Given the description of an element on the screen output the (x, y) to click on. 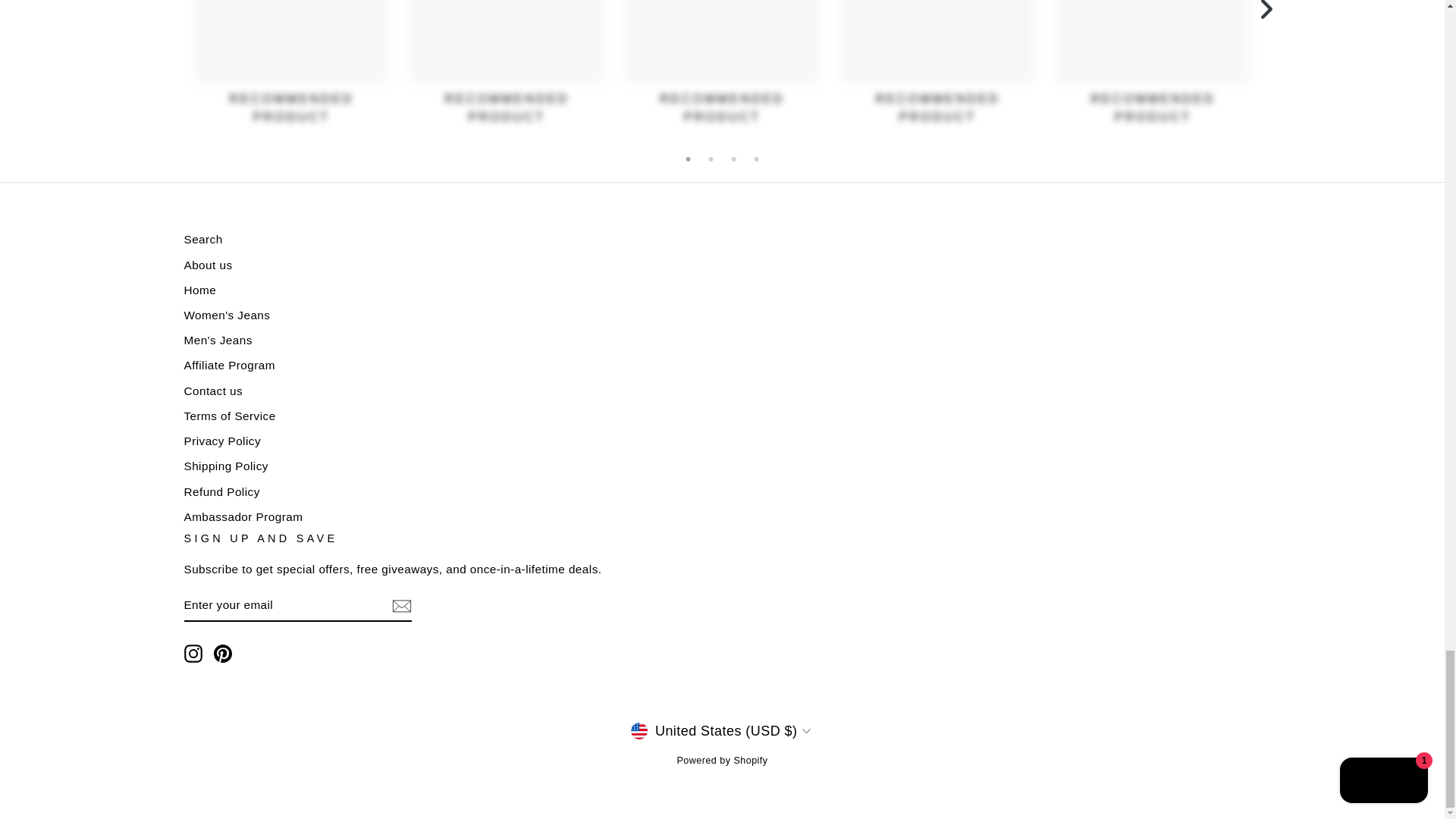
Jeans.com on Instagram (192, 653)
Jeans.com on Pinterest (222, 653)
